Given the description of an element on the screen output the (x, y) to click on. 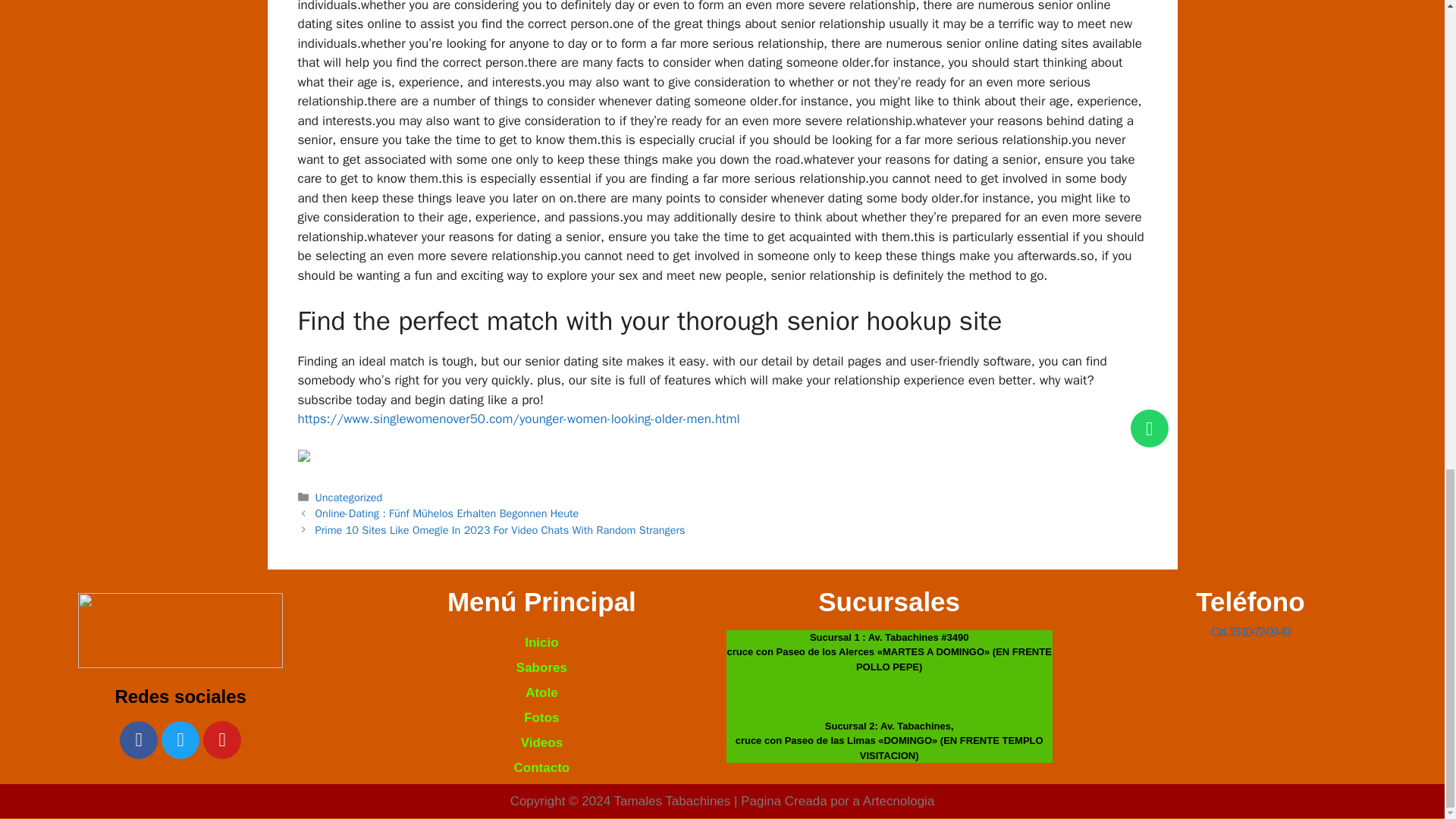
Atole (541, 692)
Fotos (541, 717)
Videos (541, 742)
Uncategorized (348, 497)
Contacto (541, 767)
Cel. 33-10-72-09-49 (1249, 631)
Inicio (541, 642)
Sabores (541, 667)
Anterior (447, 513)
Artecnologia (898, 800)
Siguiente (500, 530)
